Given the description of an element on the screen output the (x, y) to click on. 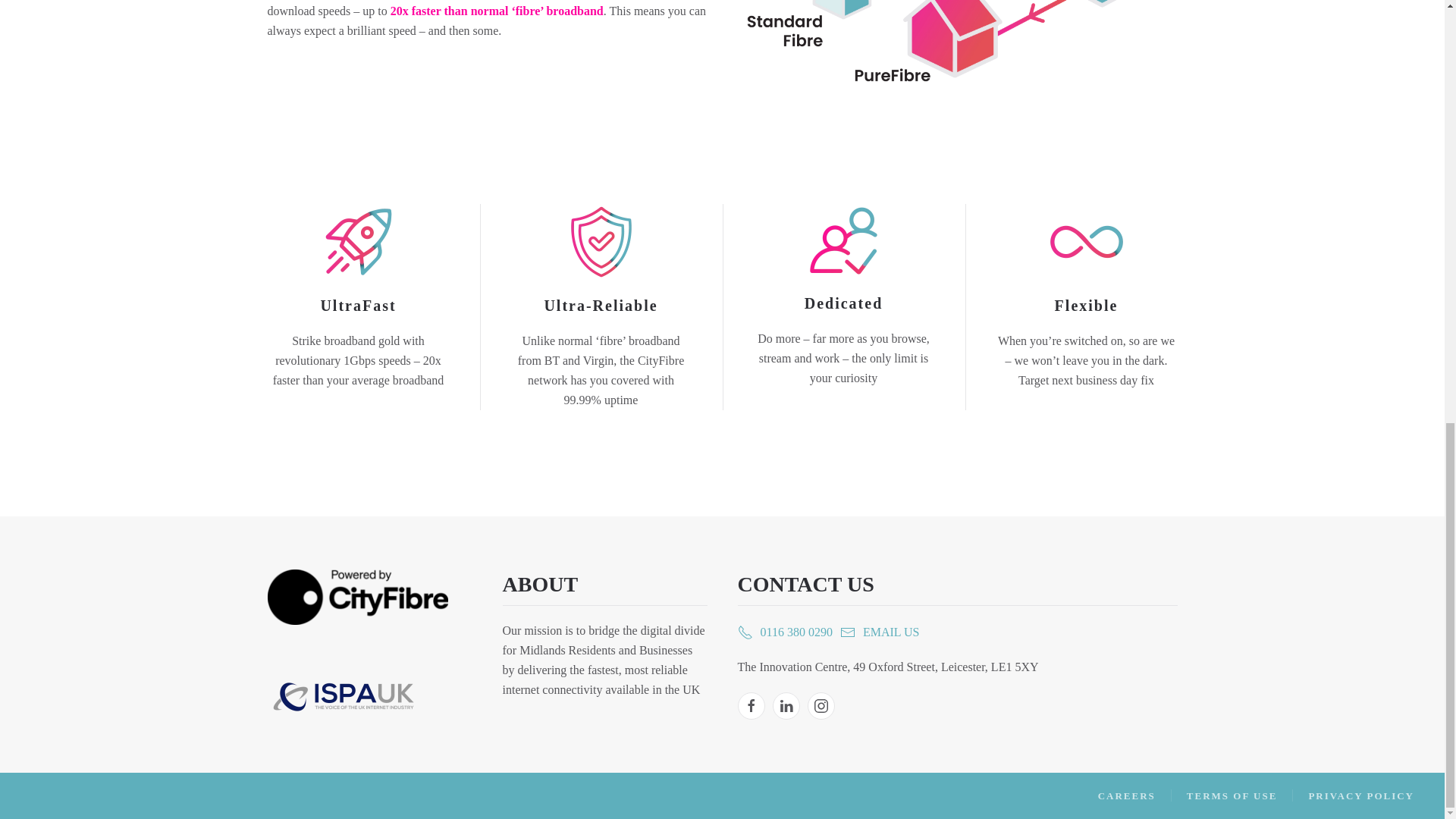
CAREERS (1126, 795)
PRIVACY POLICY (1360, 795)
TERMS OF USE (1232, 795)
EMAIL US (880, 632)
0116 380 0290 (783, 632)
